Given the description of an element on the screen output the (x, y) to click on. 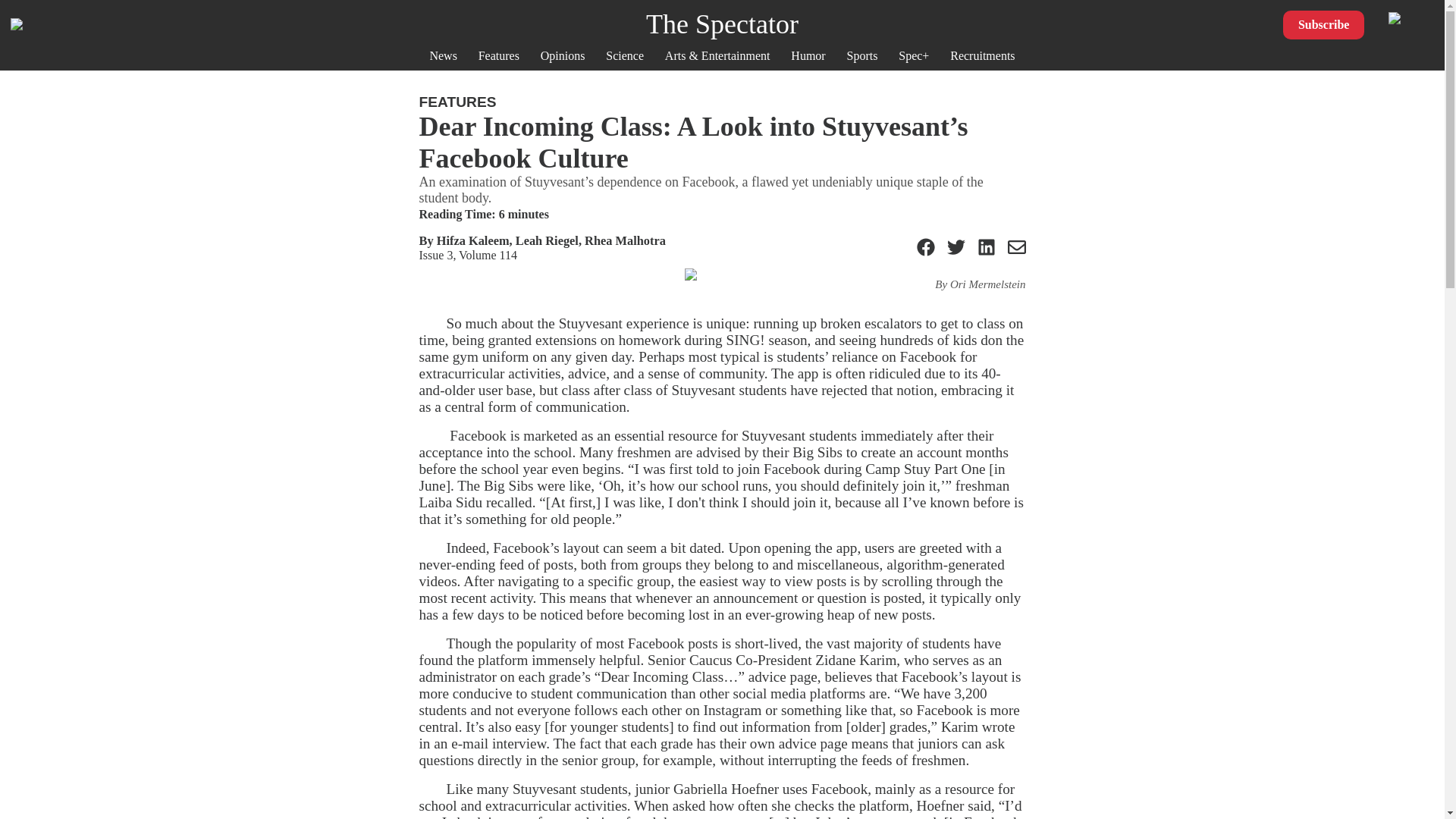
News (443, 55)
Humor (807, 55)
Subscribe (1323, 24)
Sports (862, 55)
Features (499, 55)
Recruitments (982, 55)
The Spectator (721, 24)
Science (624, 55)
Opinions (562, 55)
